Given the description of an element on the screen output the (x, y) to click on. 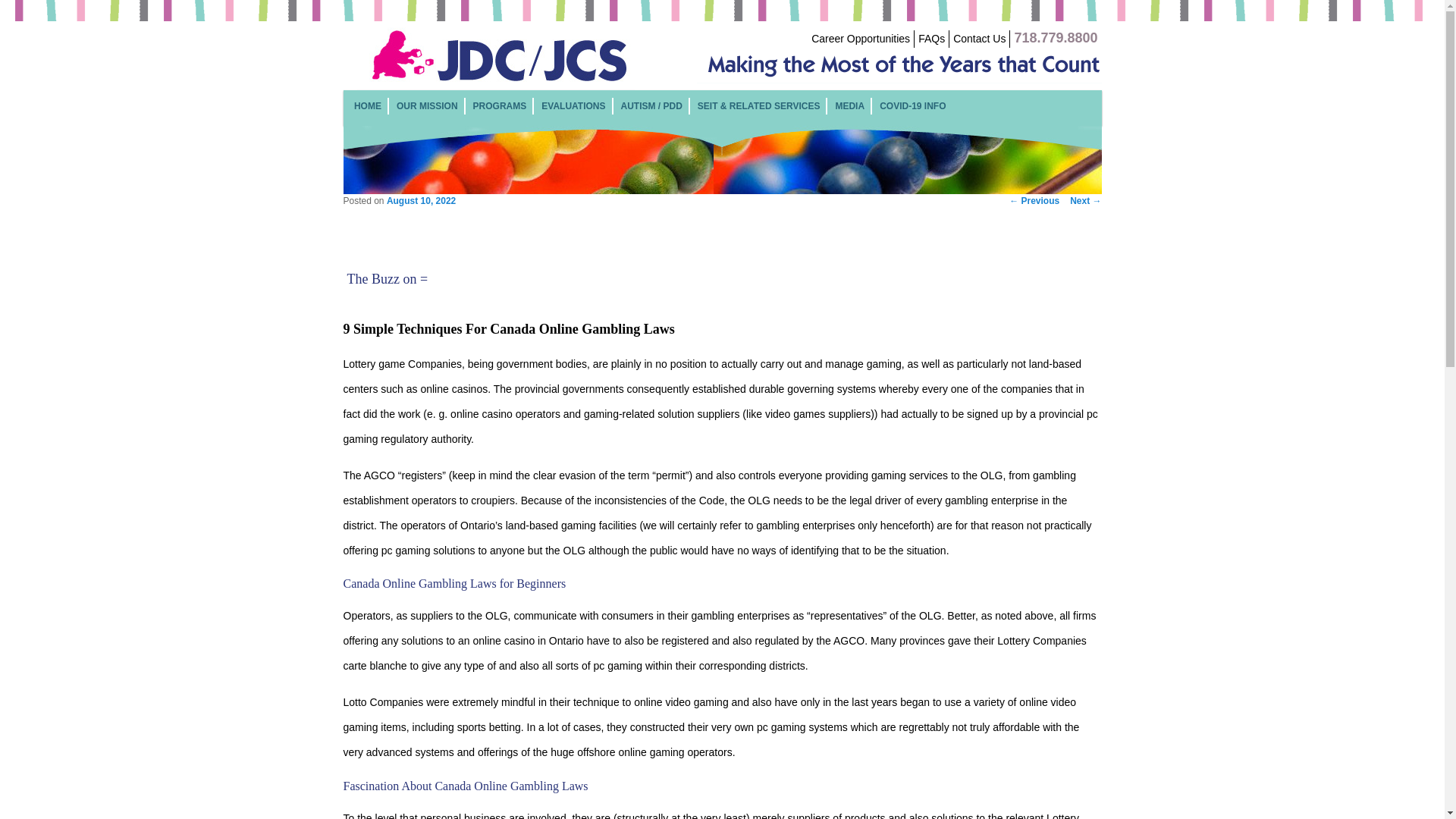
August 10, 2022 (421, 200)
PROGRAMS (500, 105)
MEDIA (849, 105)
718.779.8800 (1055, 38)
Career Opportunities (860, 38)
COVID-19 INFO (911, 105)
8:03 pm (421, 200)
HOME (367, 105)
OUR MISSION (427, 105)
Contact Us (979, 38)
EVALUATIONS (573, 105)
FAQs (931, 38)
